Given the description of an element on the screen output the (x, y) to click on. 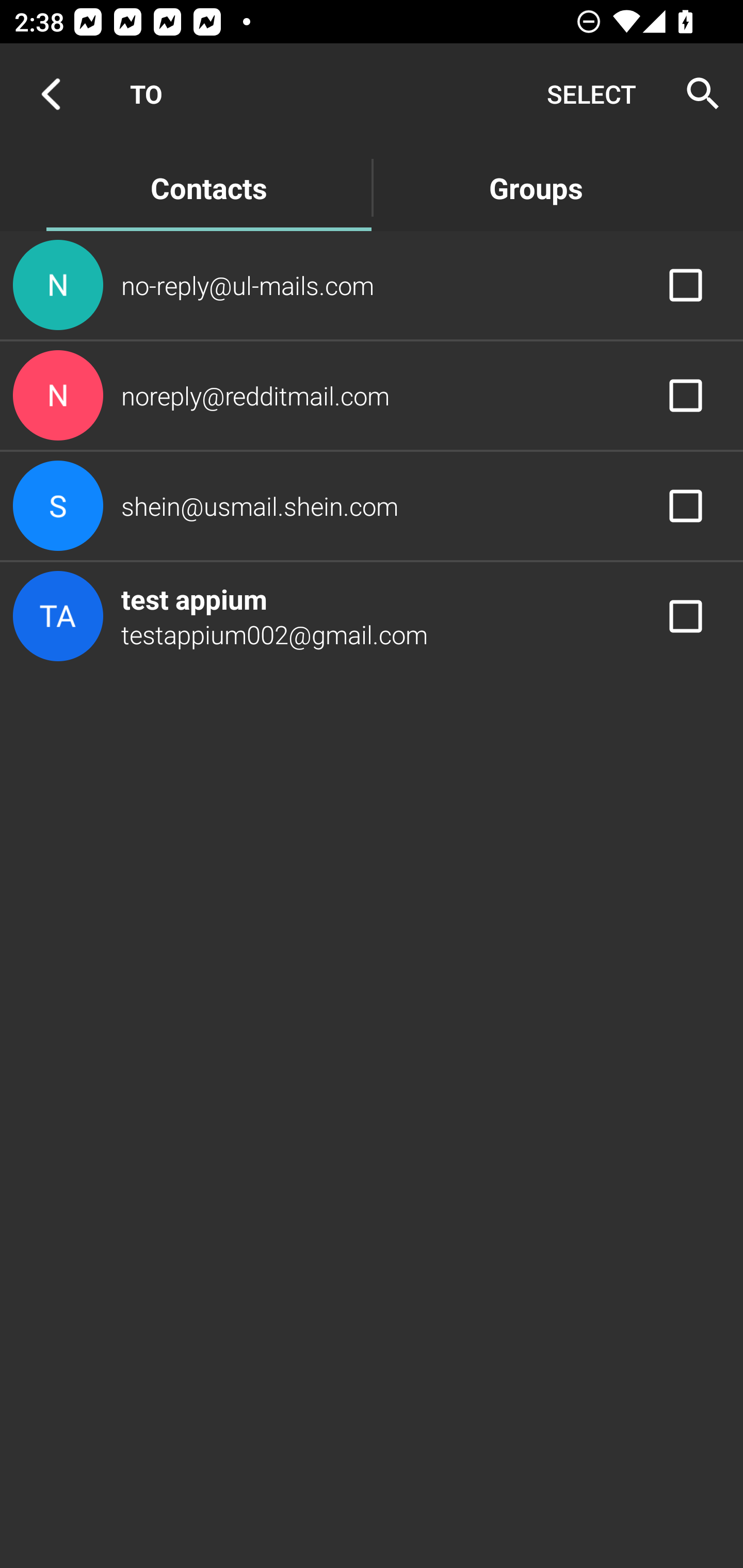
Navigate up (50, 93)
SELECT (590, 93)
Search (696, 93)
Contacts (208, 187)
Groups (535, 187)
no-reply@ul-mails.com (371, 284)
noreply@redditmail.com (371, 395)
shein@usmail.shein.com (371, 505)
test appium testappium002@gmail.com (371, 616)
